Given the description of an element on the screen output the (x, y) to click on. 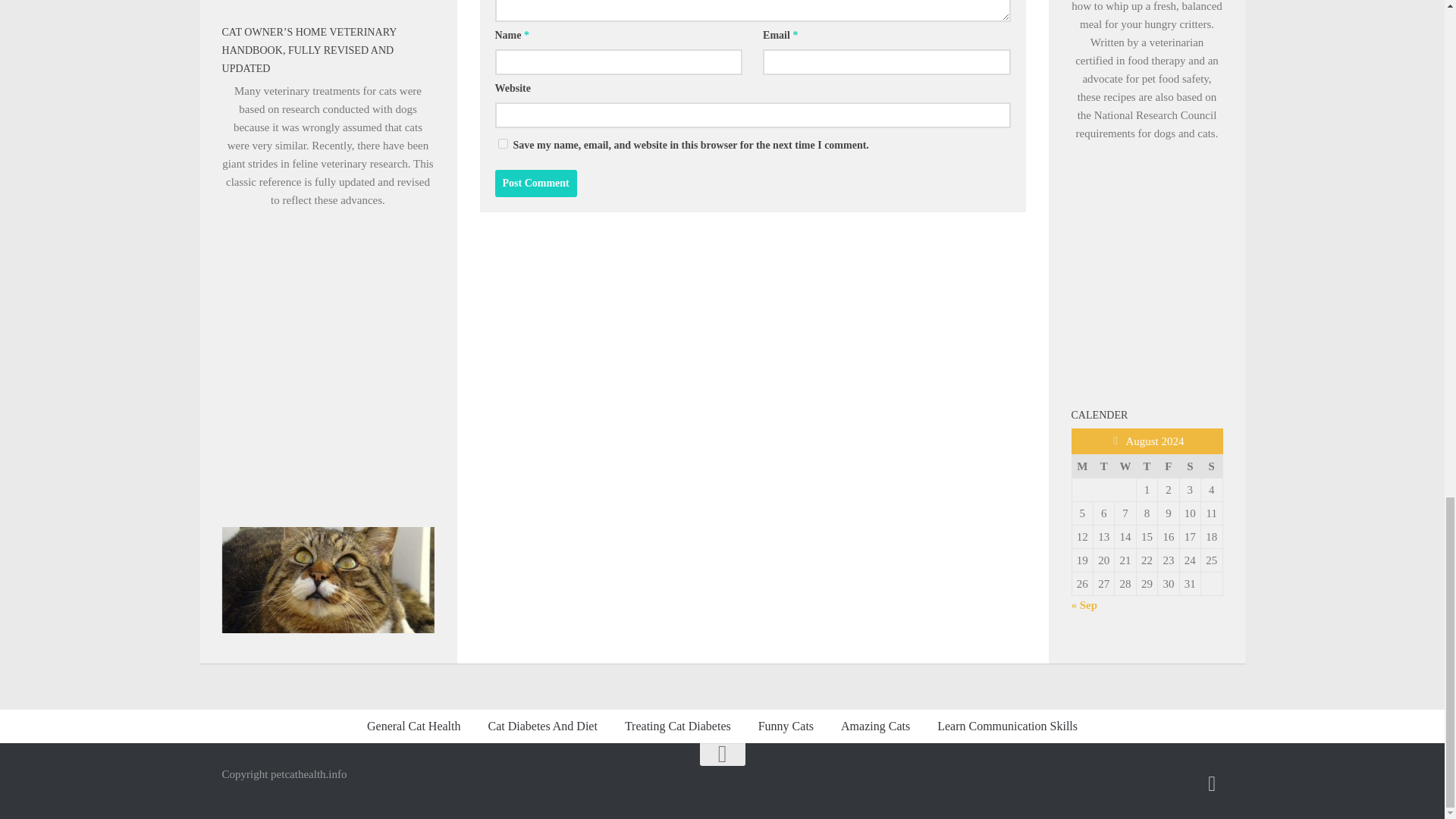
Post Comment (535, 183)
Wednesday (1125, 466)
Monday (1082, 466)
yes (501, 143)
Tuesday (1103, 466)
Thursday (1146, 466)
